Given the description of an element on the screen output the (x, y) to click on. 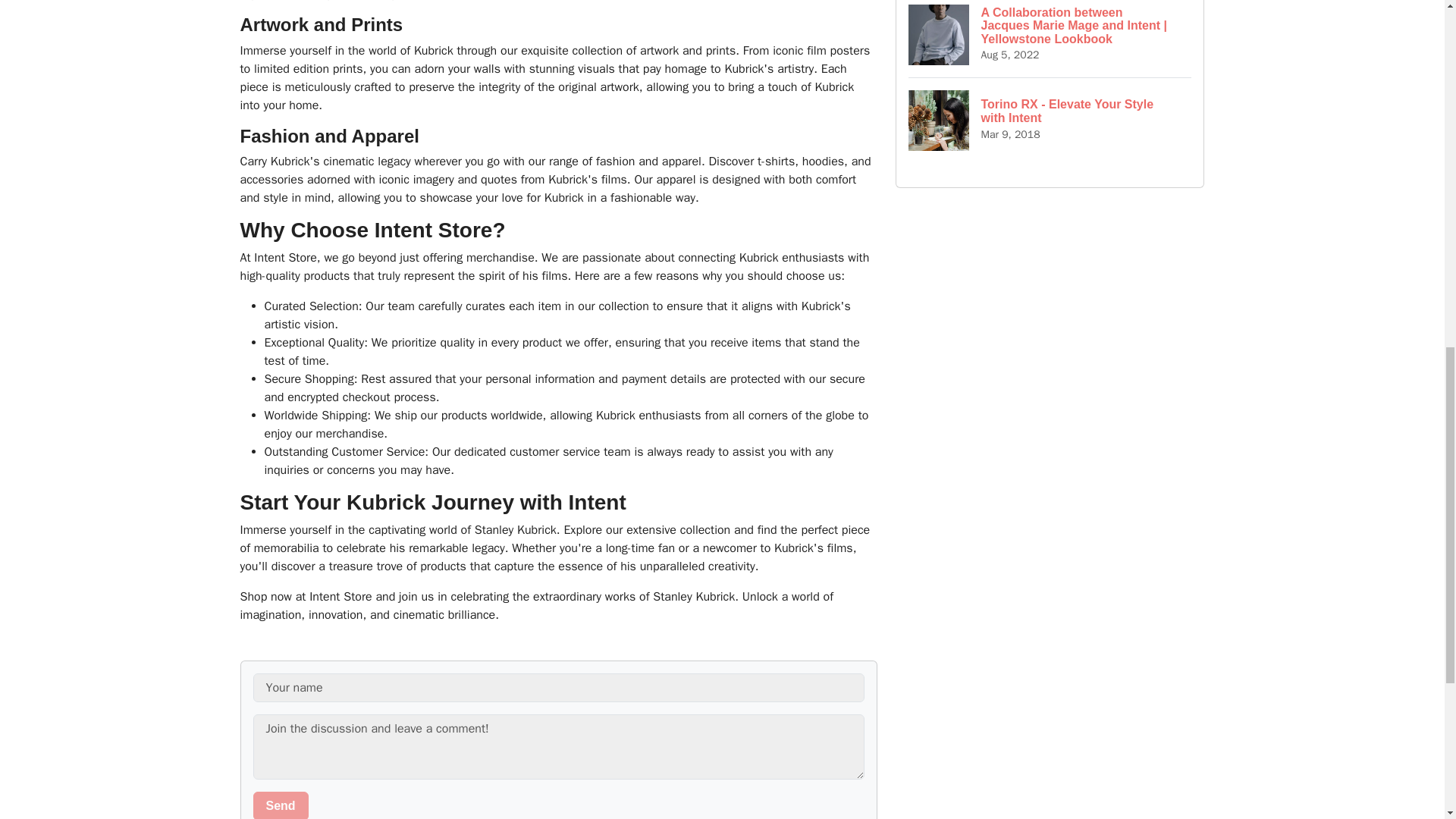
Send (280, 805)
Send (280, 805)
